Given the description of an element on the screen output the (x, y) to click on. 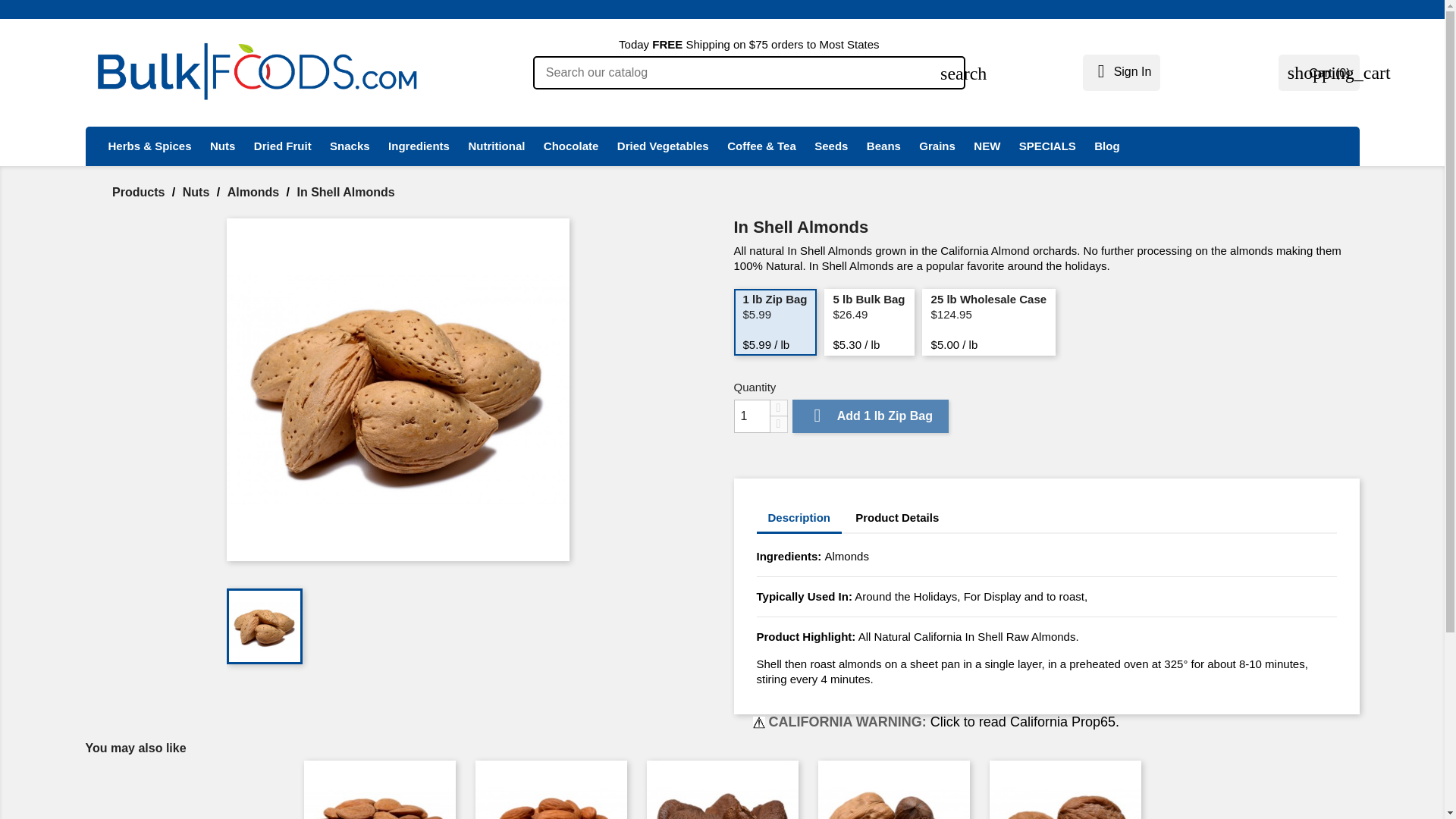
Dried Fruit (282, 145)
Description (800, 519)
1 (751, 416)
Dried Vegetables (663, 145)
Nuts (197, 192)
Almonds (254, 192)
Almonds in Shell (398, 389)
Products (140, 192)
Snacks (349, 145)
Seeds (831, 145)
Blog (1106, 145)
Product Details (897, 518)
Log in. (1121, 71)
Nuts (222, 145)
NEW (986, 145)
